Given the description of an element on the screen output the (x, y) to click on. 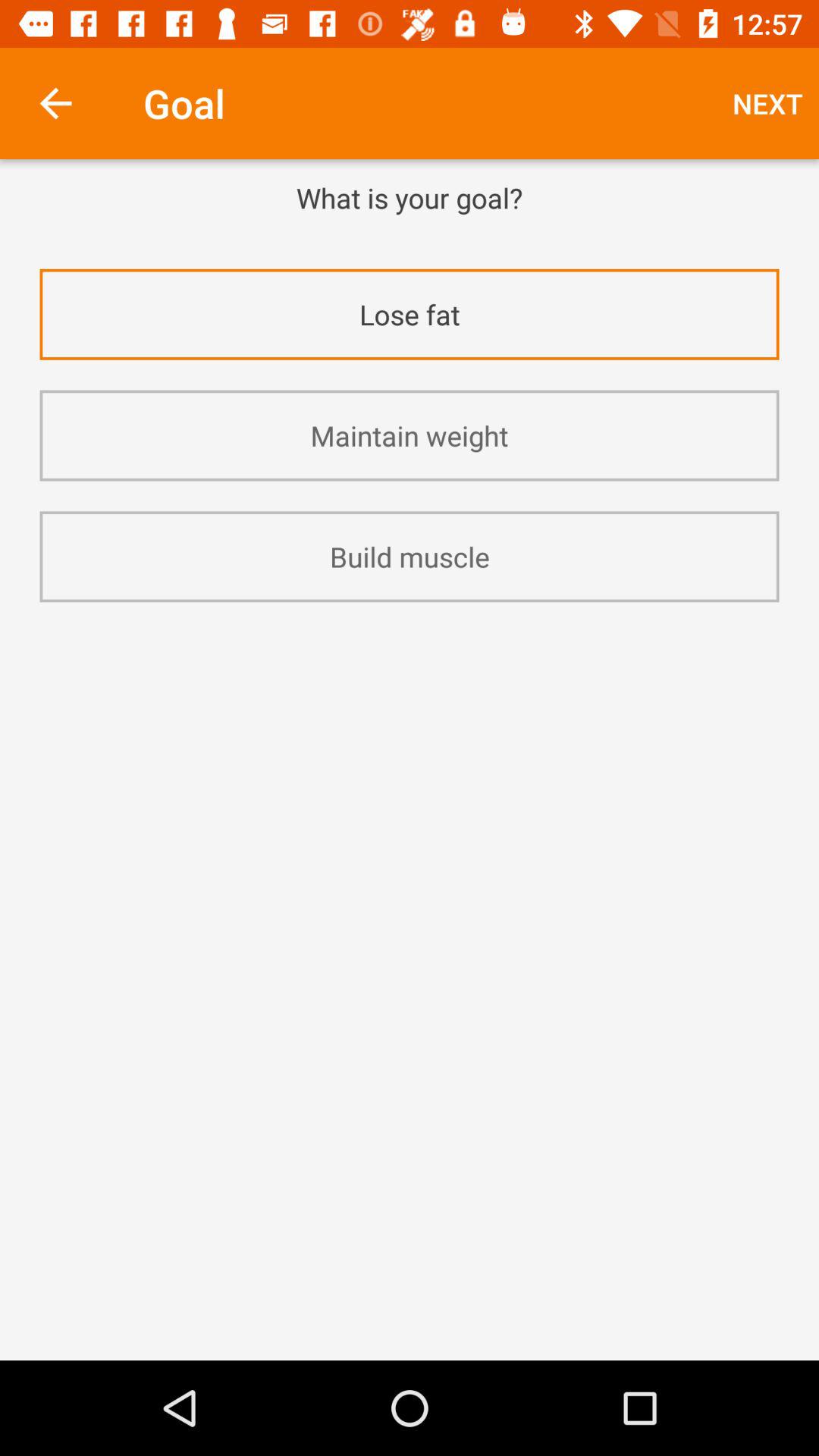
swipe to build muscle icon (409, 556)
